Given the description of an element on the screen output the (x, y) to click on. 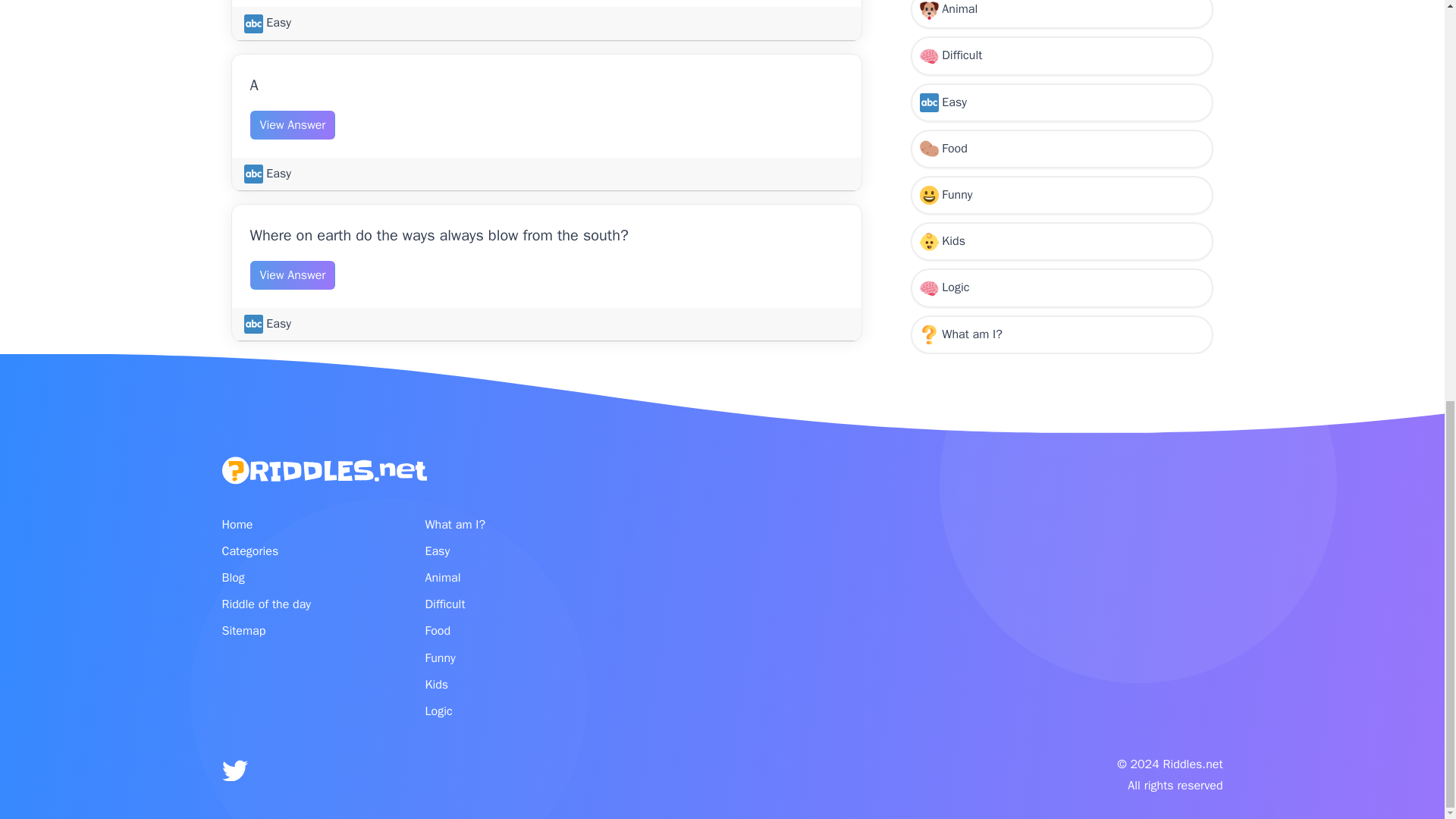
View Answer (293, 124)
What am I? (1061, 90)
Easy (267, 323)
Blog (304, 578)
Home (304, 524)
Easy (267, 22)
Logic (1061, 43)
Kids (1061, 8)
Categories (304, 551)
Where on earth do the ways always blow from the south? (439, 235)
